Given the description of an element on the screen output the (x, y) to click on. 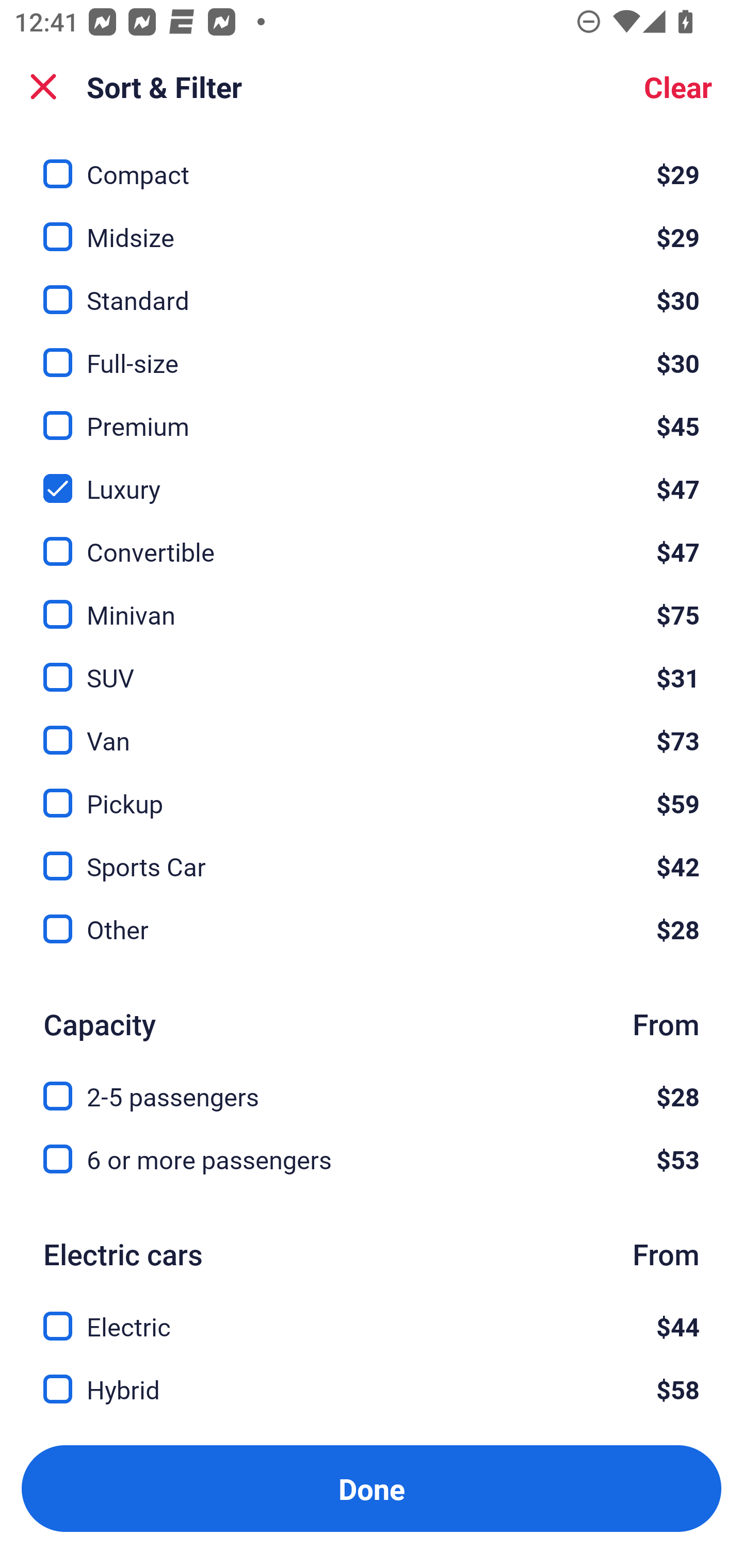
Close Sort and Filter (43, 86)
Clear (677, 86)
Compact, $29 Compact $29 (371, 162)
Midsize, $29 Midsize $29 (371, 225)
Standard, $30 Standard $30 (371, 288)
Full-size, $30 Full-size $30 (371, 350)
Premium, $45 Premium $45 (371, 413)
Luxury, $47 Luxury $47 (371, 476)
Convertible, $47 Convertible $47 (371, 539)
Minivan, $75 Minivan $75 (371, 602)
SUV, $31 SUV $31 (371, 666)
Van, $73 Van $73 (371, 728)
Pickup, $59 Pickup $59 (371, 791)
Sports Car, $42 Sports Car $42 (371, 854)
Other, $28 Other $28 (371, 928)
2-5 passengers, $28 2-5 passengers $28 (371, 1084)
6 or more passengers, $53 6 or more passengers $53 (371, 1159)
Electric, $44 Electric $44 (371, 1314)
Hybrid, $58 Hybrid $58 (371, 1389)
Apply and close Sort and Filter Done (371, 1488)
